Given the description of an element on the screen output the (x, y) to click on. 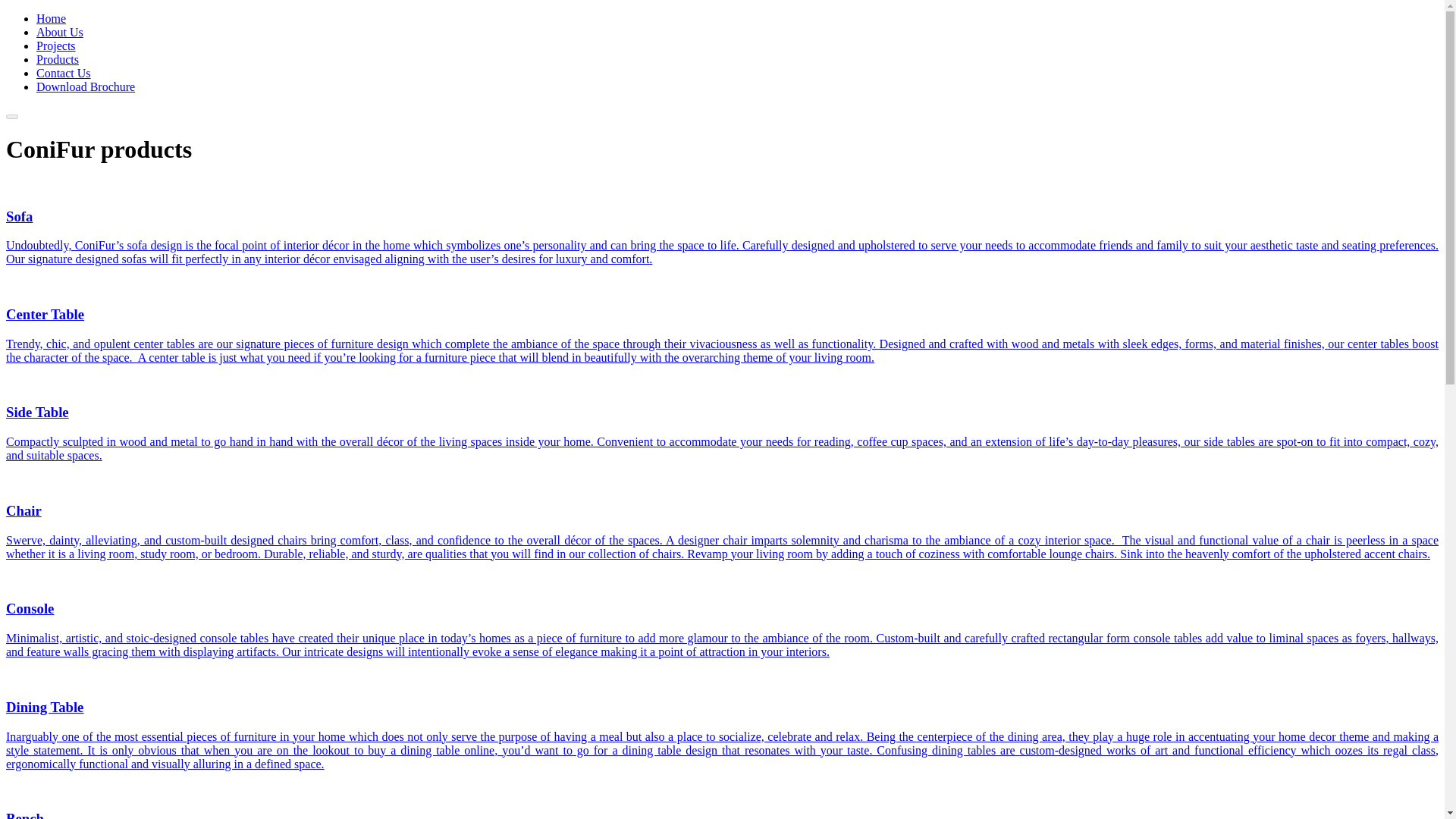
Contact Us (63, 72)
Download Brochure (85, 86)
Home (50, 18)
Products (57, 59)
About Us (59, 31)
Projects (55, 45)
